Given the description of an element on the screen output the (x, y) to click on. 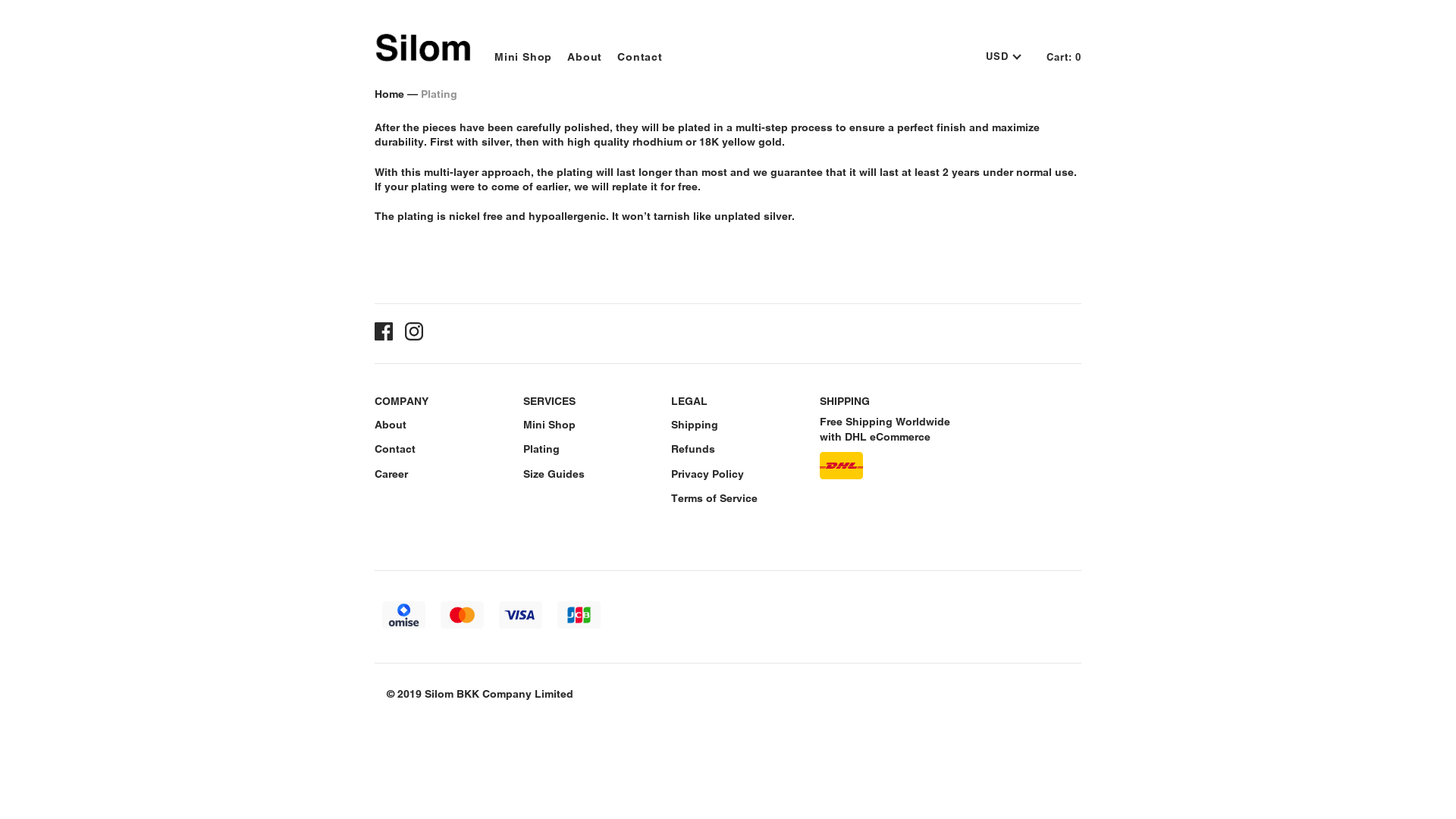
Contact Element type: text (632, 50)
Career Element type: text (390, 473)
Instagram Element type: hover (413, 333)
About Element type: text (390, 424)
Mini Shop Element type: text (515, 50)
Facebook Element type: hover (383, 333)
Privacy Policy Element type: text (707, 473)
Refunds Element type: text (693, 448)
Cart: 0 Element type: text (1063, 56)
About Element type: text (577, 50)
Home Element type: text (389, 93)
Terms of Service Element type: text (714, 498)
Shipping Element type: text (694, 424)
Size Guides Element type: text (553, 473)
Contact Element type: text (394, 448)
Mini Shop Element type: text (549, 424)
Plating Element type: text (541, 448)
